Given the description of an element on the screen output the (x, y) to click on. 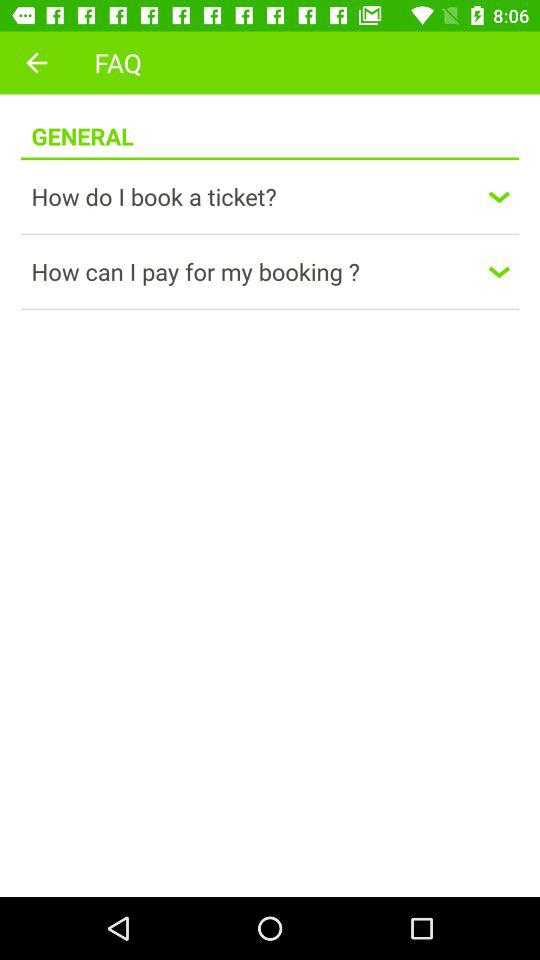
select item next to the faq (36, 62)
